Given the description of an element on the screen output the (x, y) to click on. 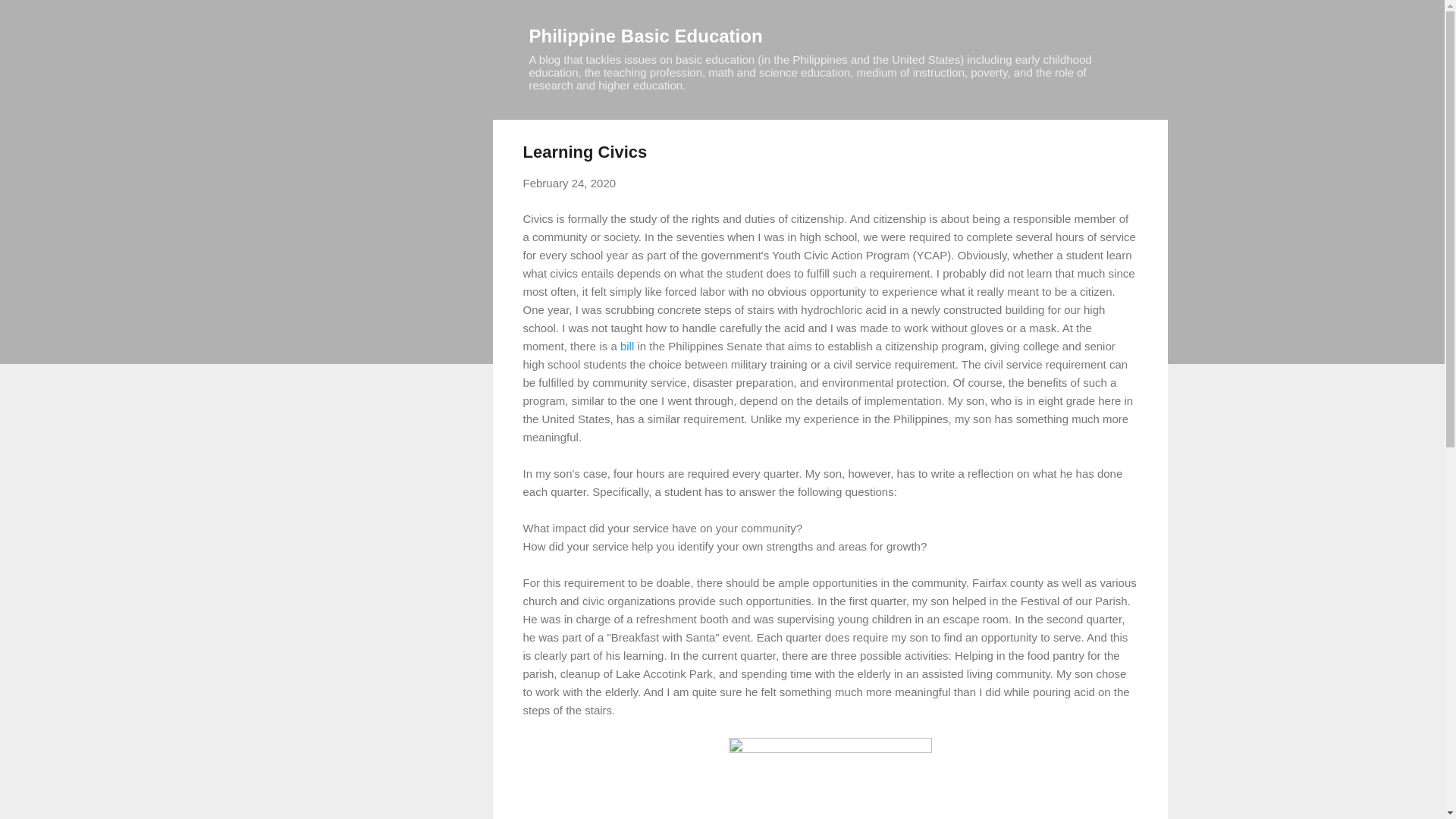
Philippine Basic Education (645, 35)
permanent link (568, 182)
Search (29, 18)
bill (626, 345)
February 24, 2020 (568, 182)
